Given the description of an element on the screen output the (x, y) to click on. 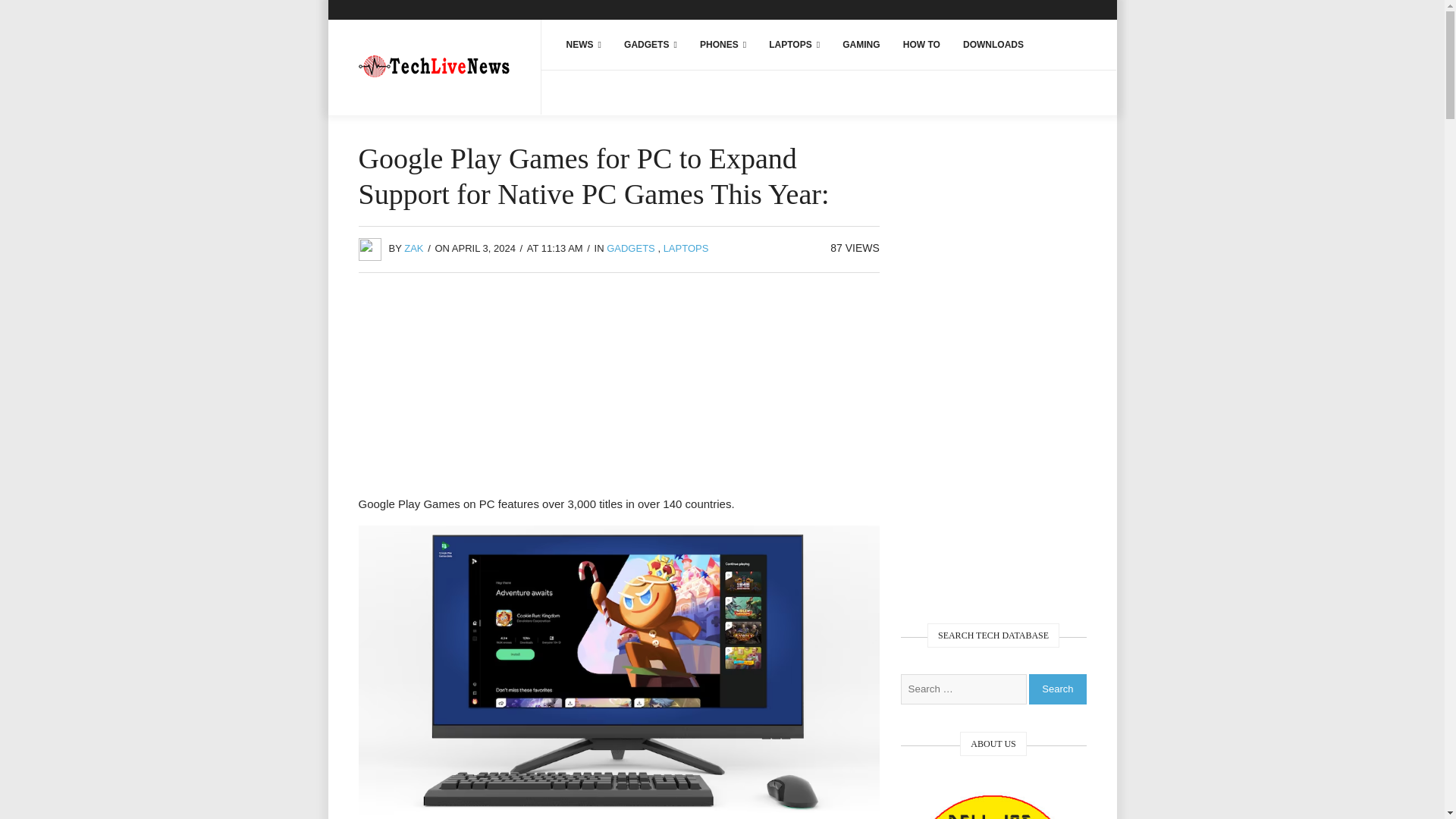
HOW TO (921, 44)
Search (1057, 688)
Search (1057, 688)
ZAK (413, 247)
DOWNLOADS (993, 44)
LAPTOPS (793, 44)
PHONES (722, 44)
NEWS (583, 44)
Posts by Zak (413, 247)
GAMING (860, 44)
GADGETS (650, 44)
Advertisement (618, 387)
